Given the description of an element on the screen output the (x, y) to click on. 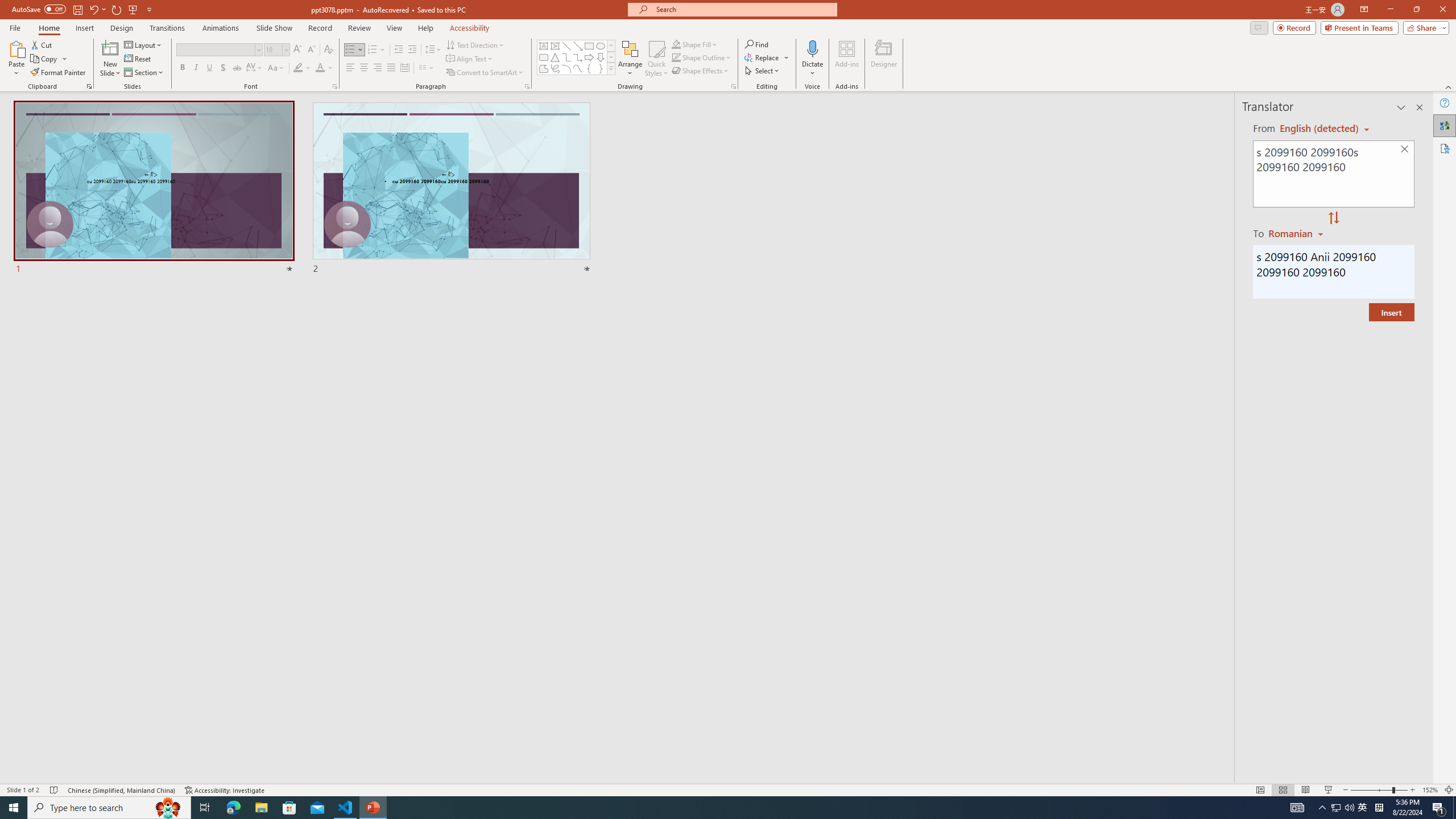
Underline (209, 67)
Line Arrow (577, 45)
Arc (566, 68)
Text Highlight Color (302, 67)
Format Object... (733, 85)
Arrow: Right (589, 57)
